Given the description of an element on the screen output the (x, y) to click on. 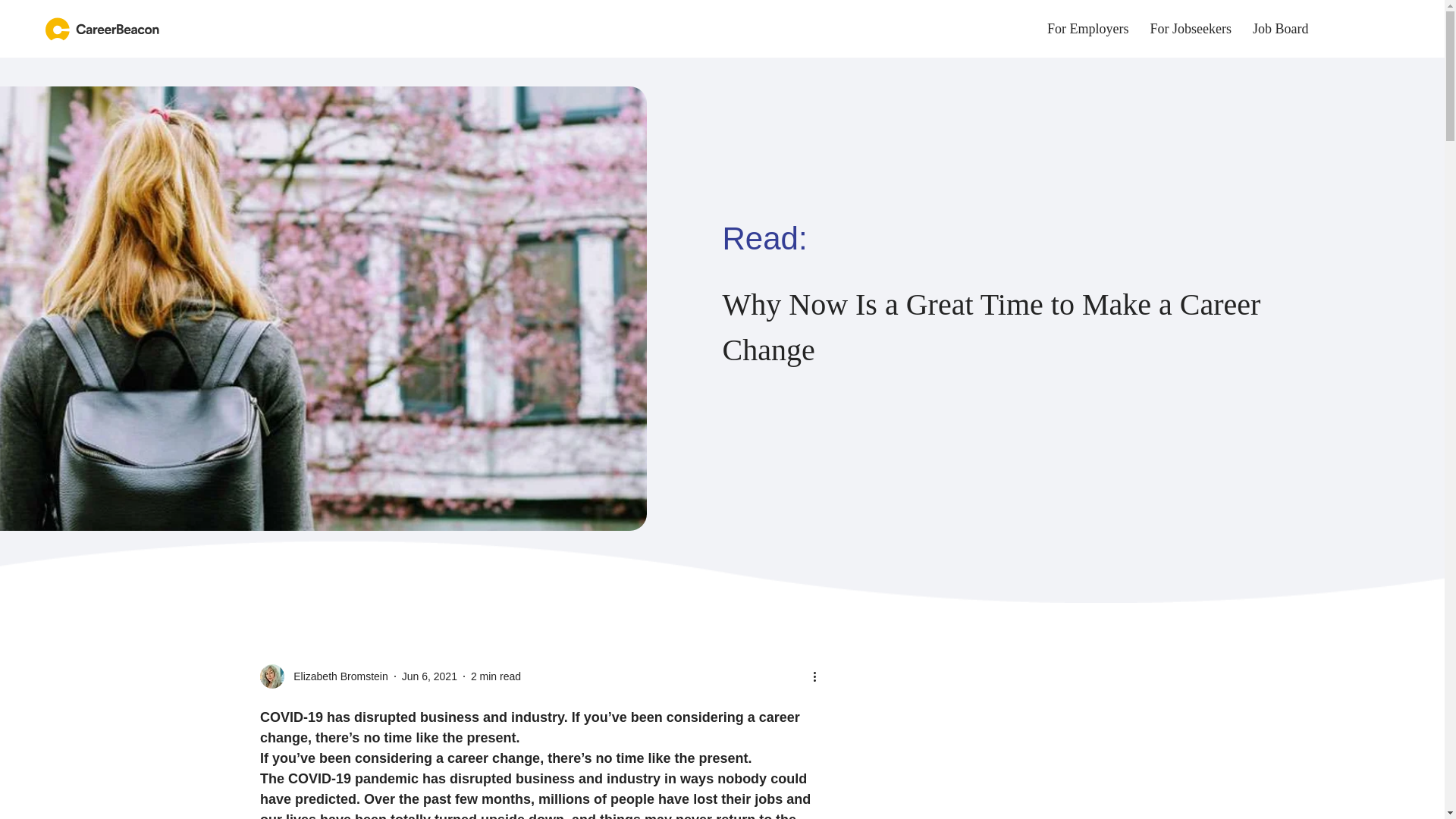
Jun 6, 2021 (429, 676)
2 min read (1022, 28)
Elizabeth Bromstein (495, 676)
Job Board (335, 676)
